Given the description of an element on the screen output the (x, y) to click on. 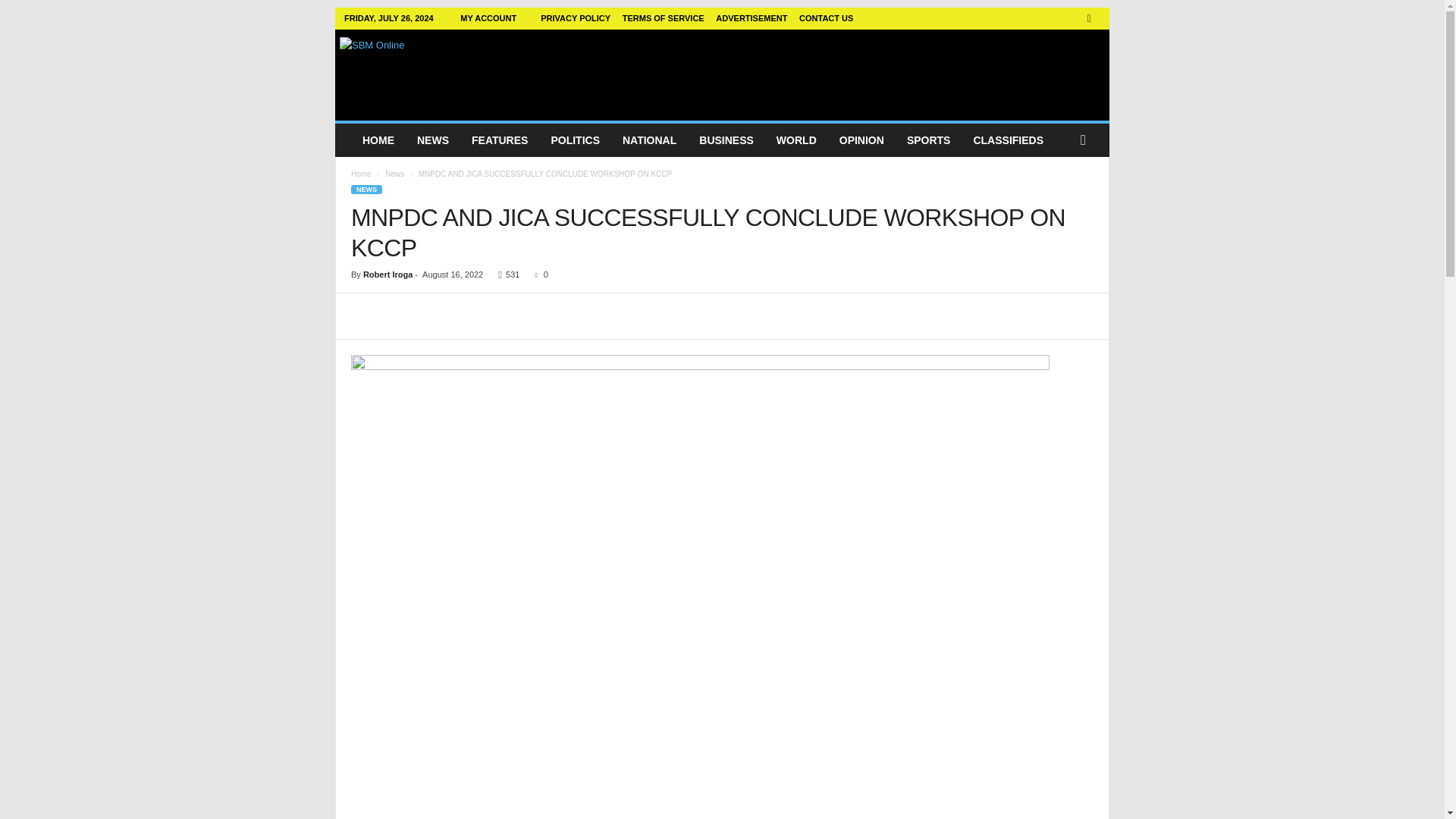
WORLD (796, 140)
BUSINESS (726, 140)
Solomon Business Magazine (442, 70)
HOME (378, 140)
CLASSIFIEDS (1007, 140)
PRIVACY POLICY (575, 17)
POLITICS (574, 140)
OPINION (861, 140)
NATIONAL (649, 140)
CONTACT US (826, 17)
TERMS OF SERVICE (663, 17)
Home (360, 173)
View all posts in News (394, 173)
SPORTS (928, 140)
FEATURES (499, 140)
